Given the description of an element on the screen output the (x, y) to click on. 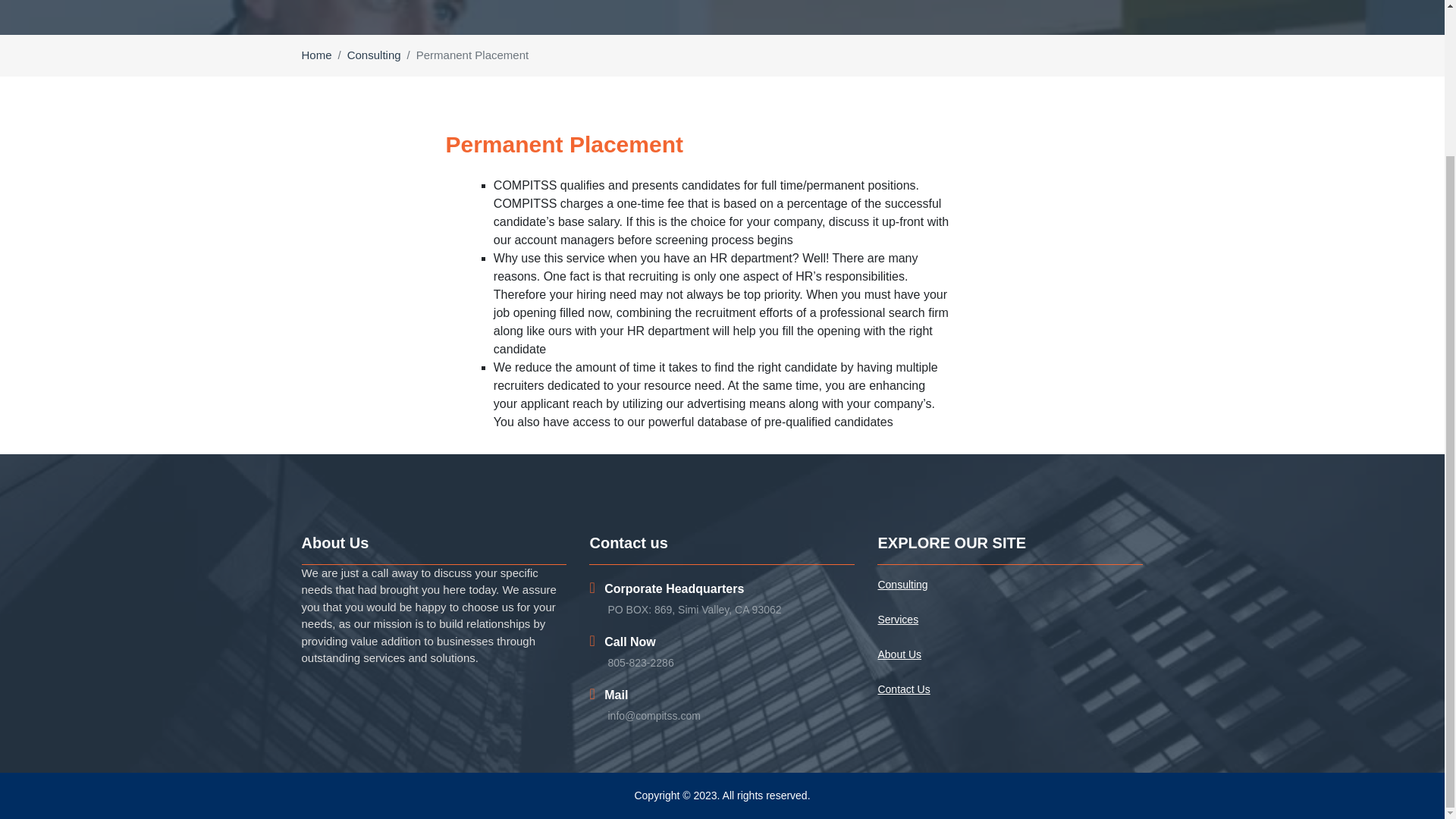
About Us (1009, 654)
Services (1009, 619)
Contact Us (1009, 689)
805-823-2286 (639, 662)
Consulting (374, 54)
Consulting (1009, 584)
Home (316, 54)
